Given the description of an element on the screen output the (x, y) to click on. 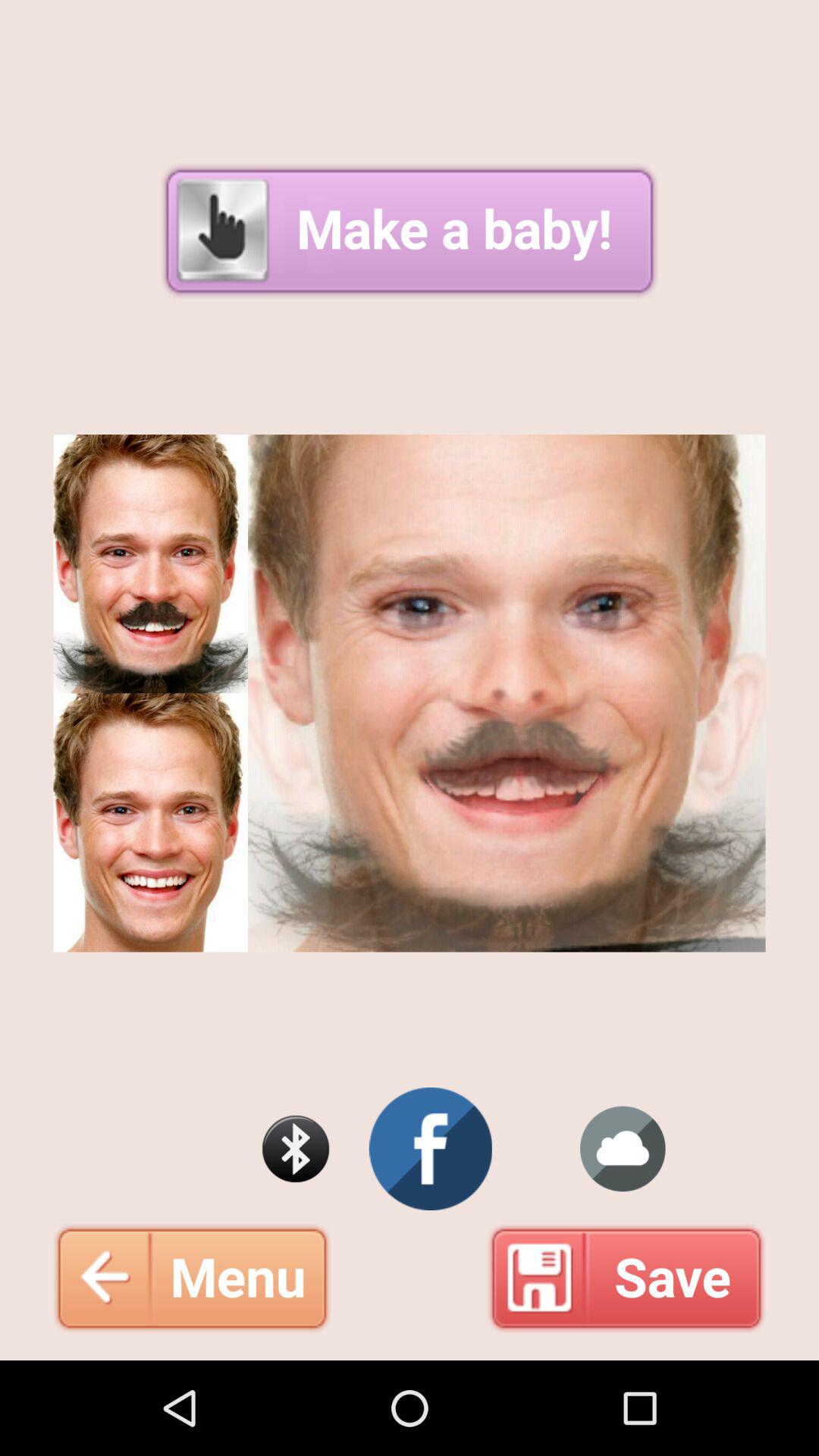
facebook (430, 1148)
